Given the description of an element on the screen output the (x, y) to click on. 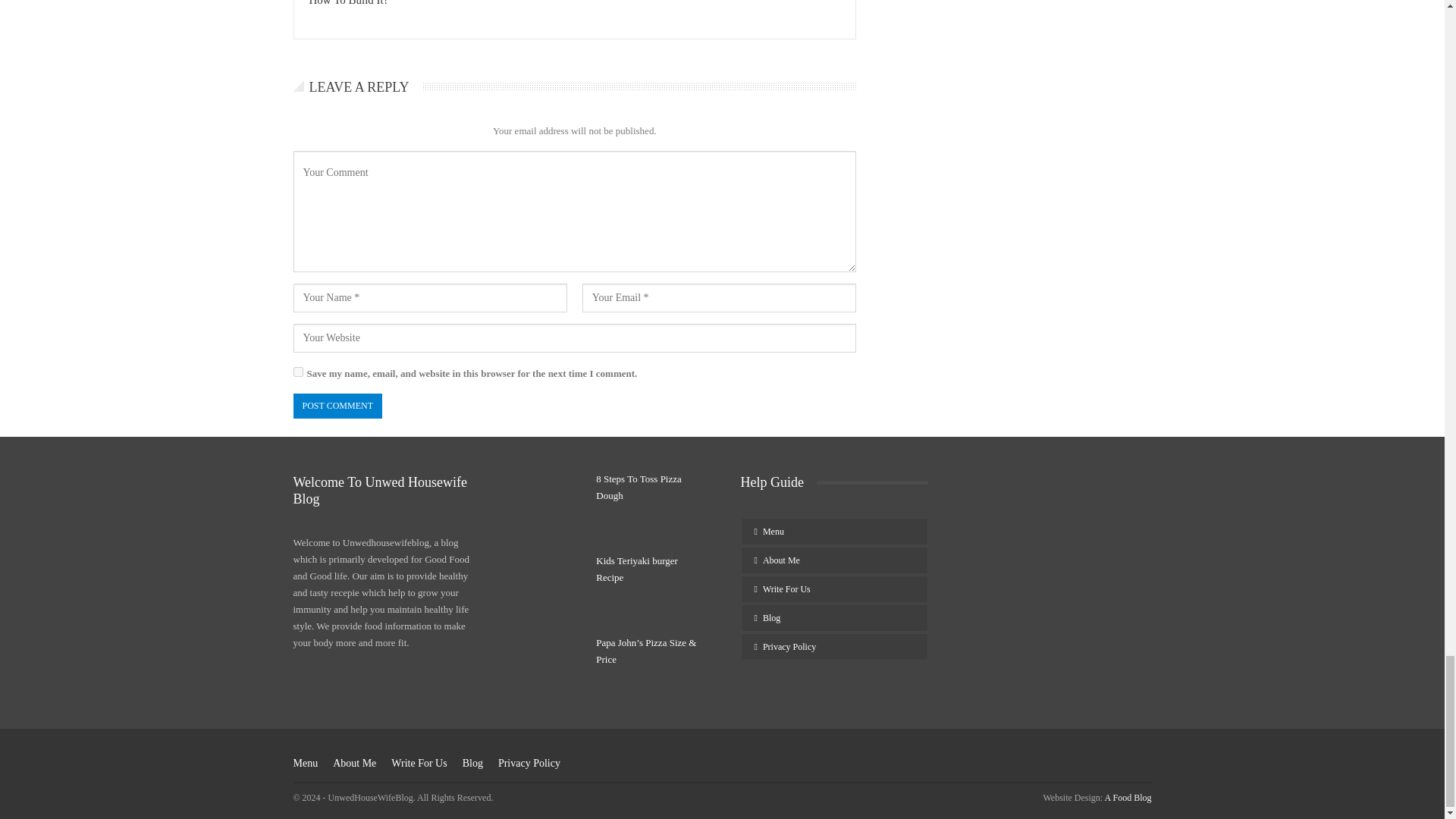
What Is A Food Safety Culture And How To Build It? (389, 2)
Post Comment (336, 405)
yes (297, 371)
